Given the description of an element on the screen output the (x, y) to click on. 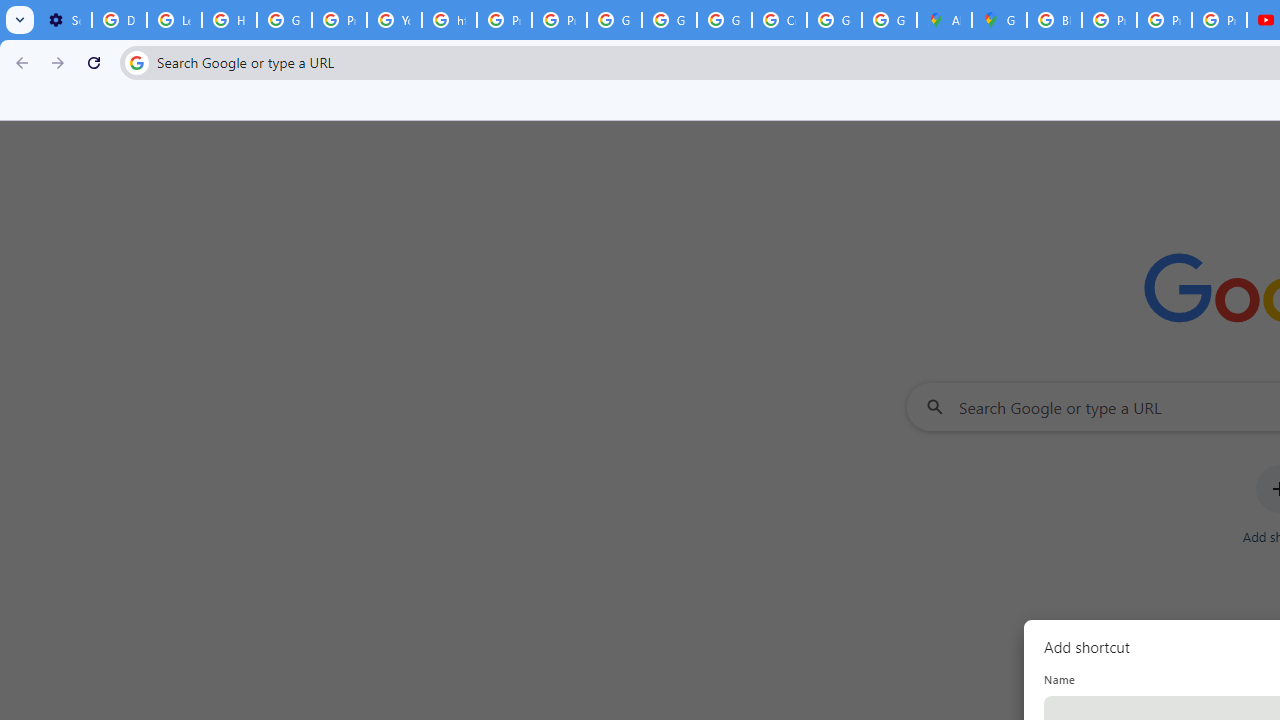
Google Account Help (284, 20)
Search tabs (20, 20)
Privacy Help Center - Policies Help (1163, 20)
Privacy Help Center - Policies Help (1108, 20)
Search icon (136, 62)
Create your Google Account (779, 20)
Google Maps (998, 20)
Privacy Help Center - Policies Help (339, 20)
YouTube (394, 20)
Learn how to find your photos - Google Photos Help (174, 20)
